Given the description of an element on the screen output the (x, y) to click on. 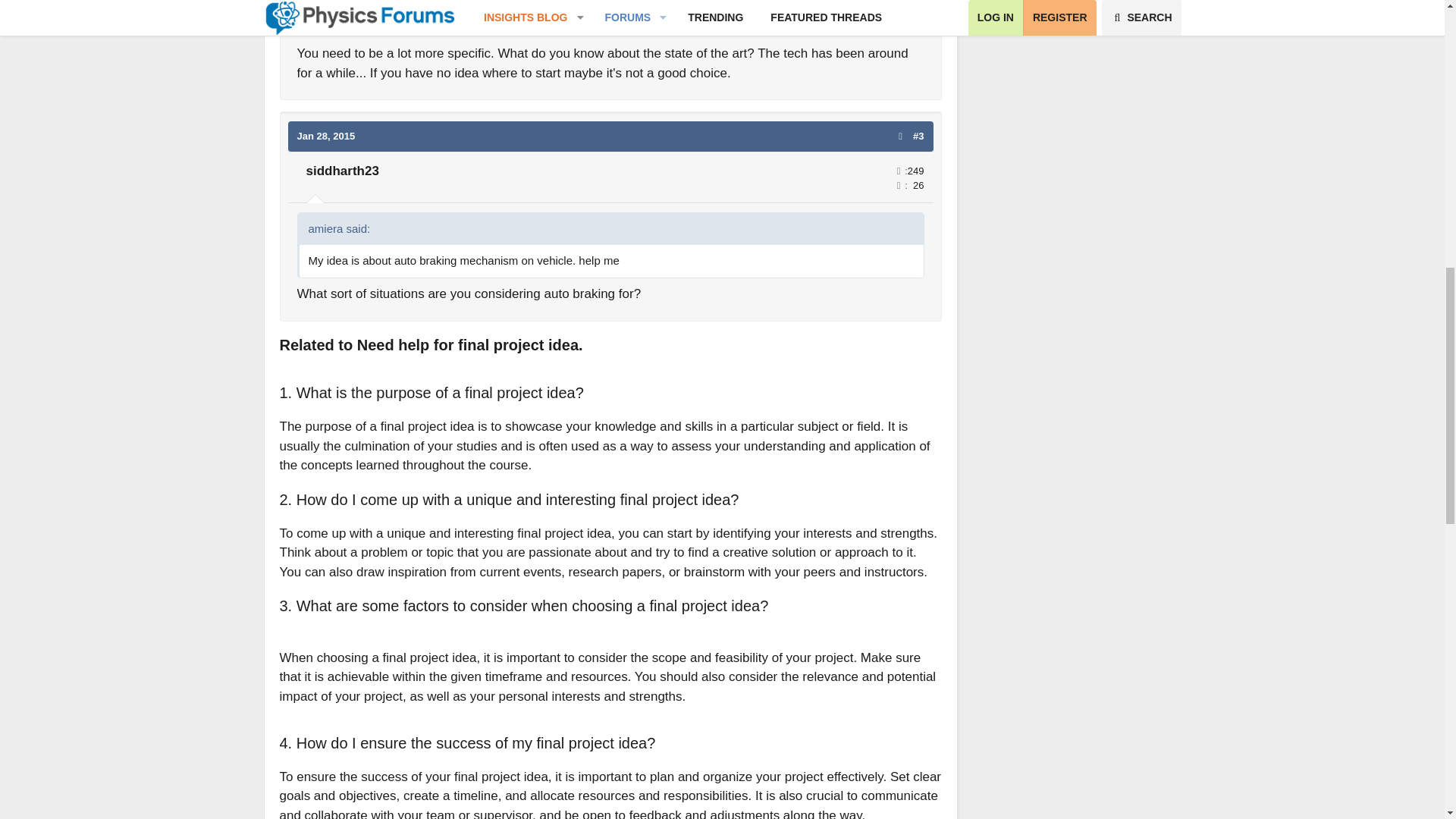
Reaction score (889, 6)
Reaction score (898, 185)
Verified Expert in Science and Math (345, 12)
Messages (898, 170)
Jan 28, 2015 at 10:28 PM (326, 135)
